Given the description of an element on the screen output the (x, y) to click on. 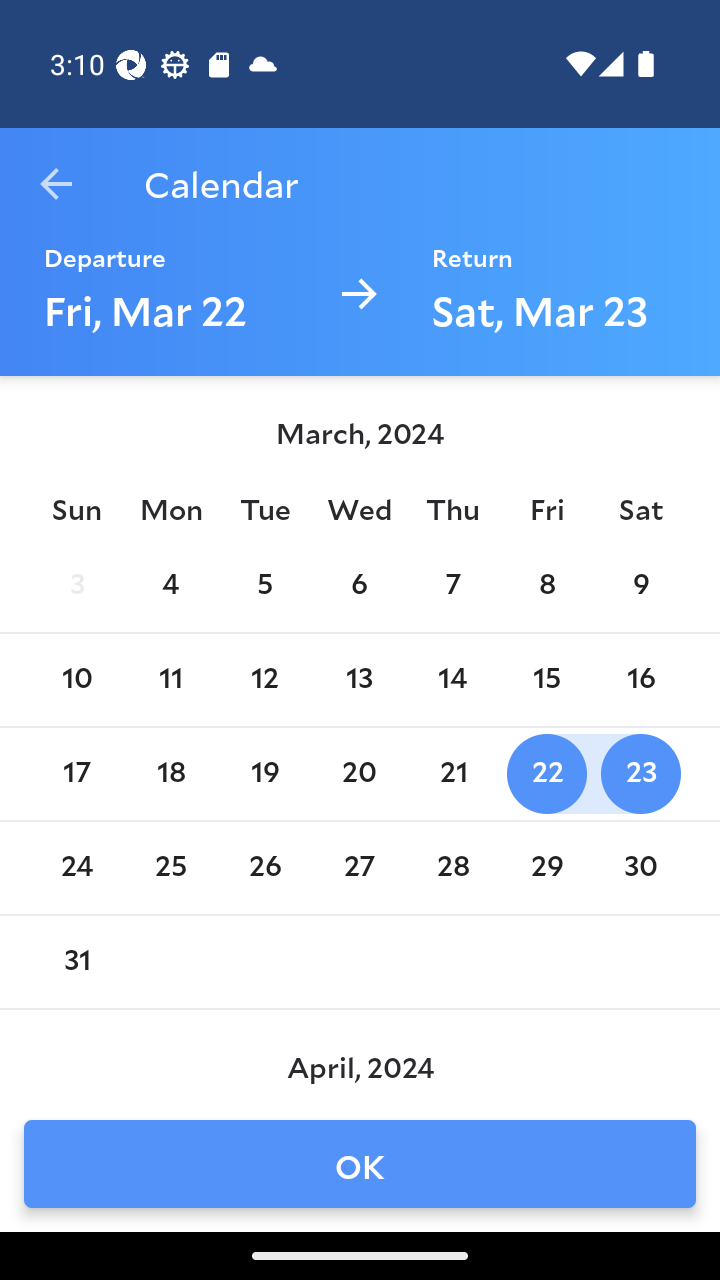
Navigate up (56, 184)
3 (76, 585)
4 (170, 585)
5 (264, 585)
6 (358, 585)
7 (453, 585)
8 (546, 585)
9 (641, 585)
10 (76, 679)
11 (170, 679)
12 (264, 679)
13 (358, 679)
14 (453, 679)
15 (546, 679)
16 (641, 679)
17 (76, 773)
18 (170, 773)
19 (264, 773)
20 (358, 773)
21 (453, 773)
22 (546, 773)
23 (641, 773)
24 (76, 867)
25 (170, 867)
26 (264, 867)
27 (358, 867)
28 (453, 867)
29 (546, 867)
30 (641, 867)
31 (76, 961)
OK (359, 1164)
